Given the description of an element on the screen output the (x, y) to click on. 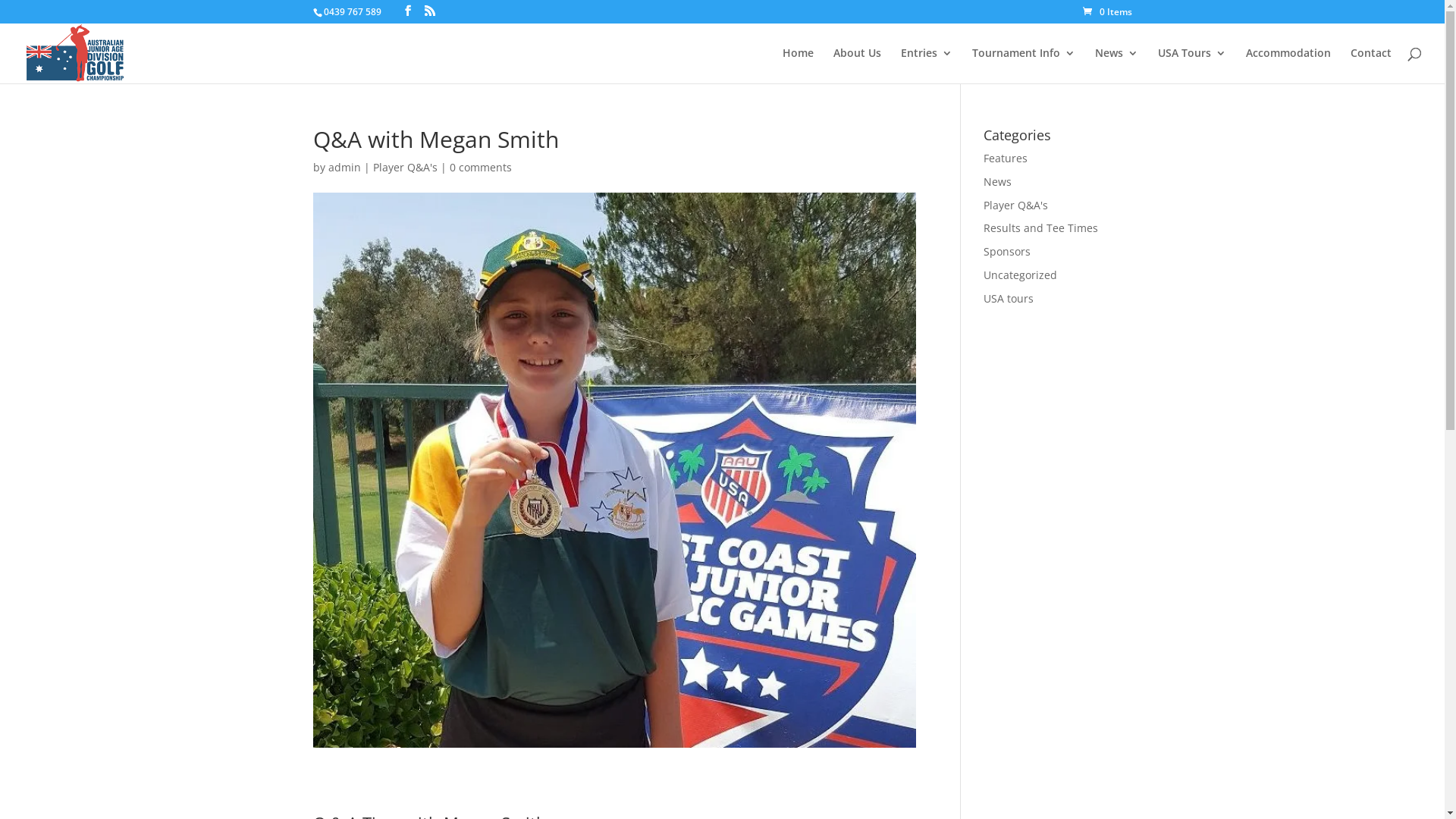
Uncategorized Element type: text (1020, 274)
Contact Element type: text (1370, 65)
Player Q&A's Element type: text (1015, 204)
News Element type: text (997, 181)
Results and Tee Times Element type: text (1040, 227)
0 Items Element type: text (1107, 11)
Features Element type: text (1005, 157)
admin Element type: text (343, 167)
News Element type: text (1116, 65)
USA Tours Element type: text (1191, 65)
Tournament Info Element type: text (1023, 65)
Player Q&A's Element type: text (405, 167)
Sponsors Element type: text (1006, 251)
0 comments Element type: text (479, 167)
About Us Element type: text (857, 65)
Accommodation Element type: text (1287, 65)
Entries Element type: text (926, 65)
USA tours Element type: text (1008, 298)
Home Element type: text (797, 65)
